Given the description of an element on the screen output the (x, y) to click on. 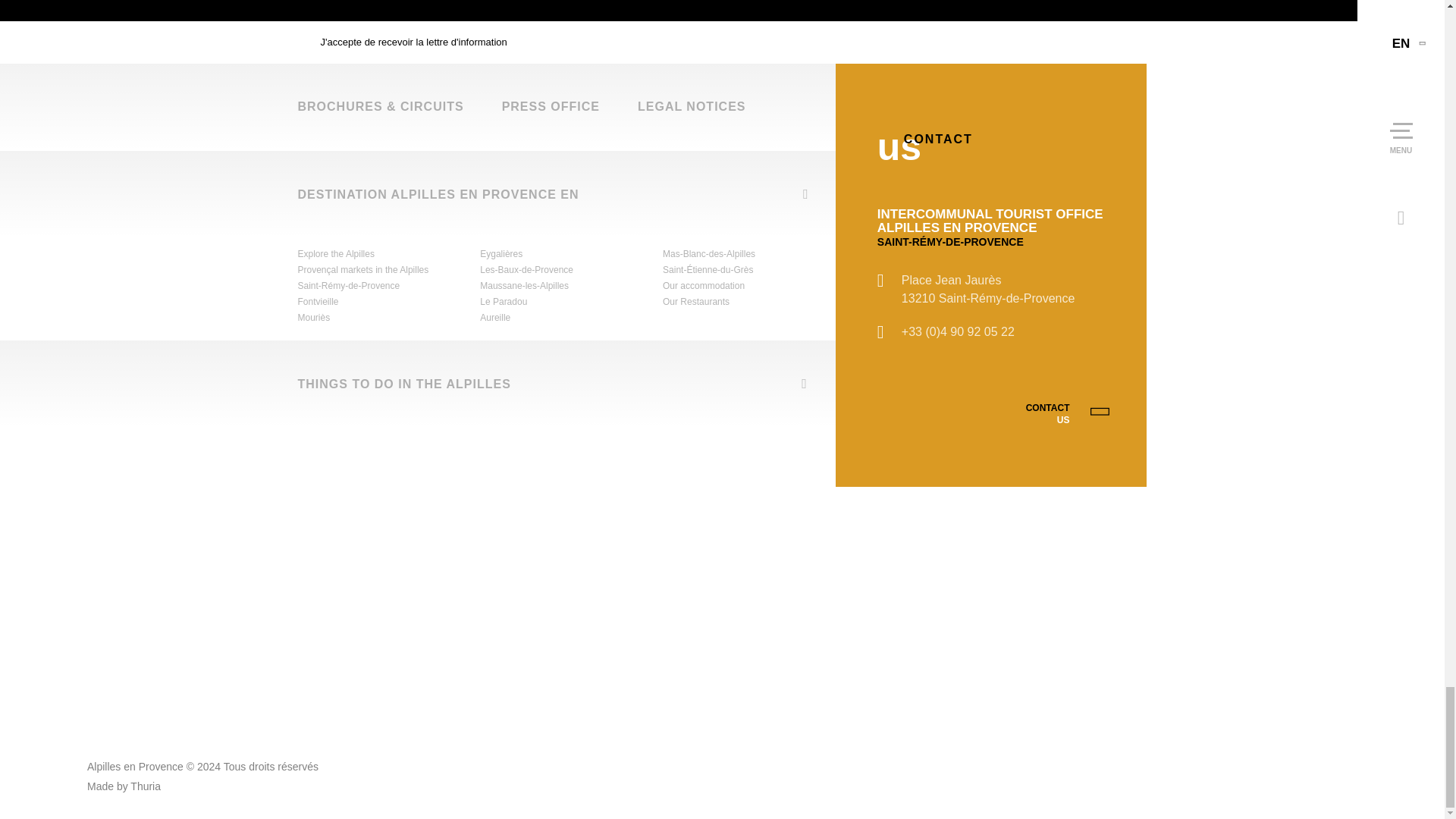
LEGAL NOTICES (691, 106)
JE M'ABONNE (1027, 10)
PRESS OFFICE (550, 106)
